Given the description of an element on the screen output the (x, y) to click on. 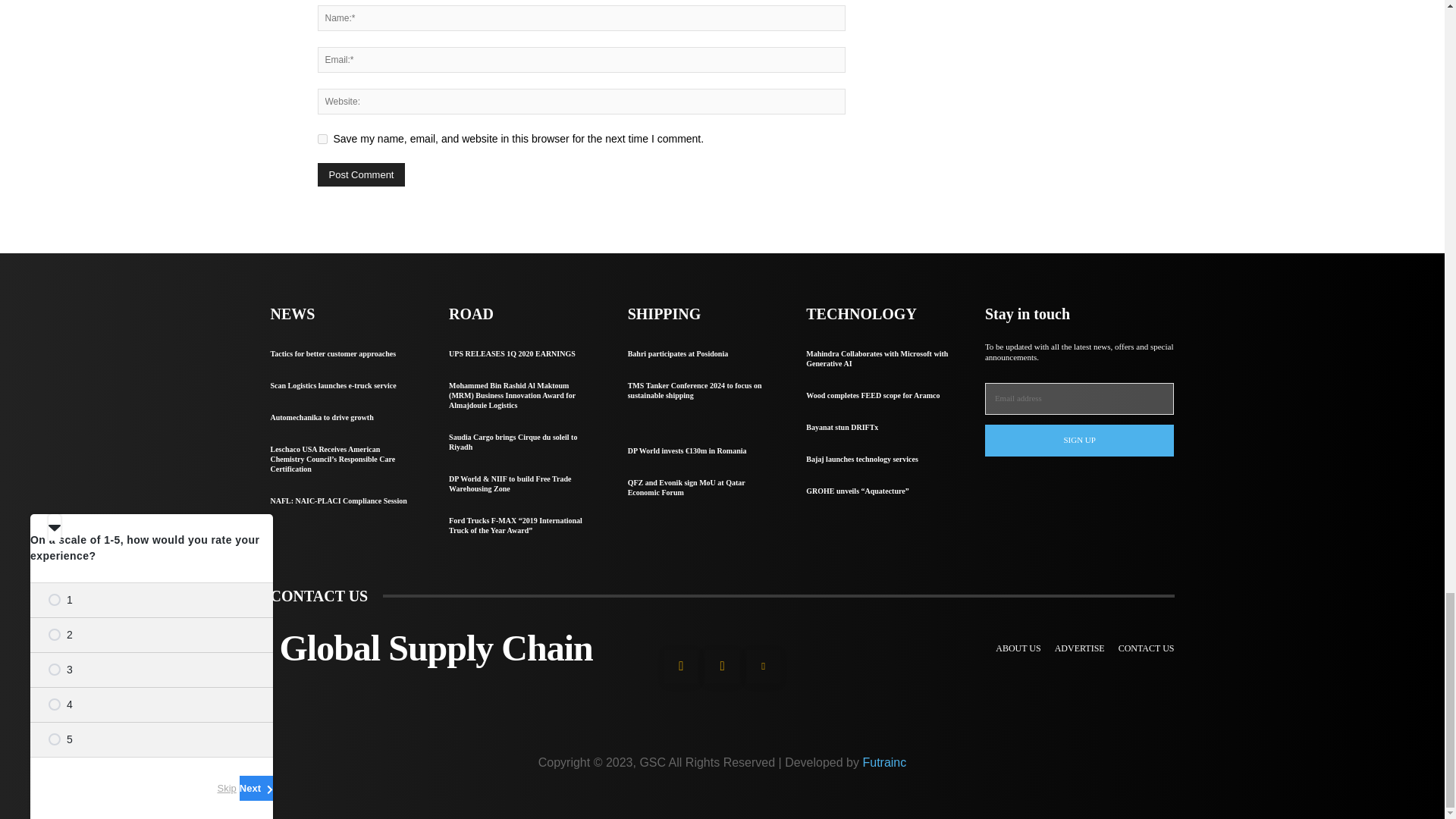
Post Comment (360, 174)
yes (321, 139)
